Given the description of an element on the screen output the (x, y) to click on. 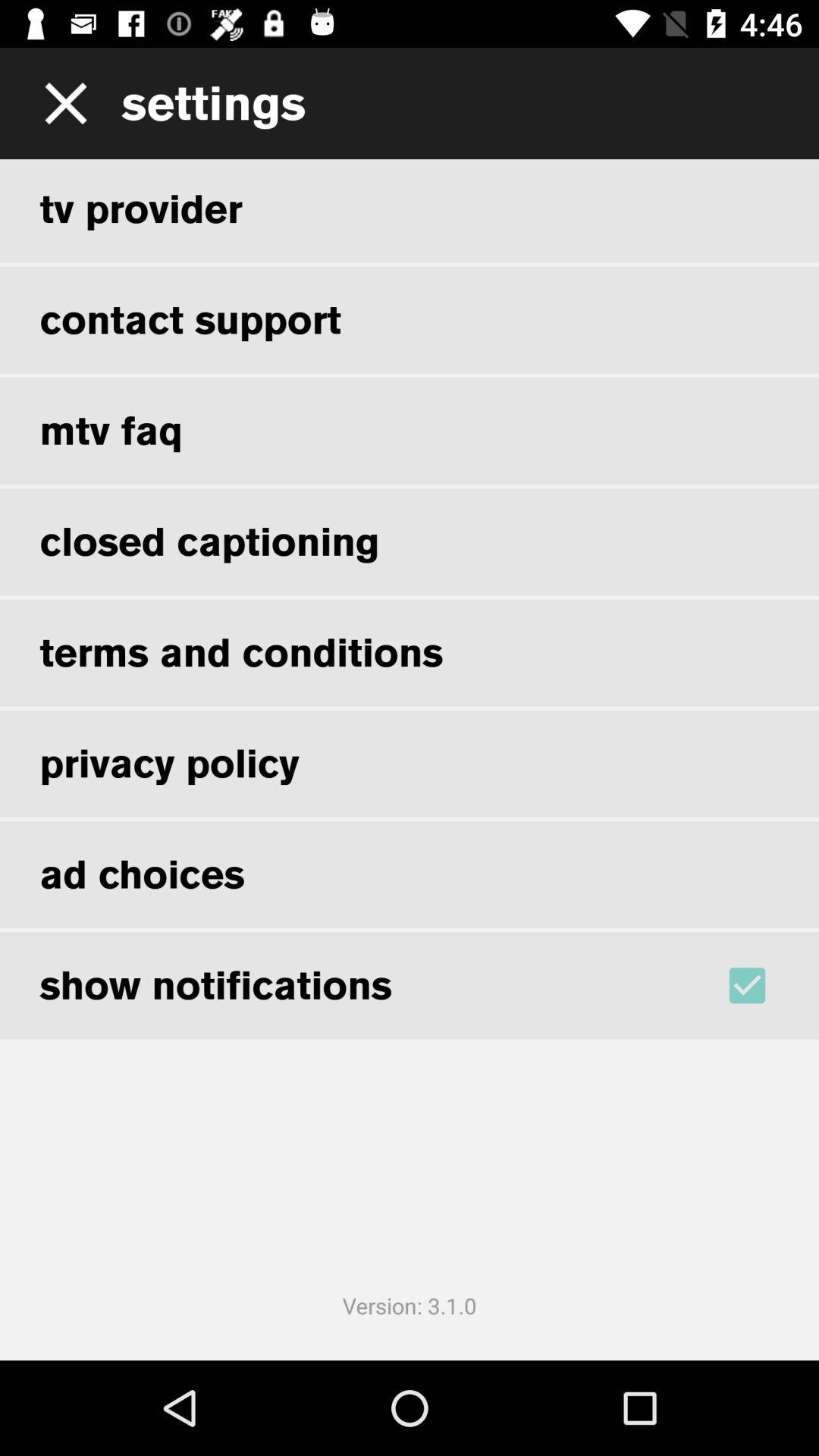
close the window (60, 103)
